Given the description of an element on the screen output the (x, y) to click on. 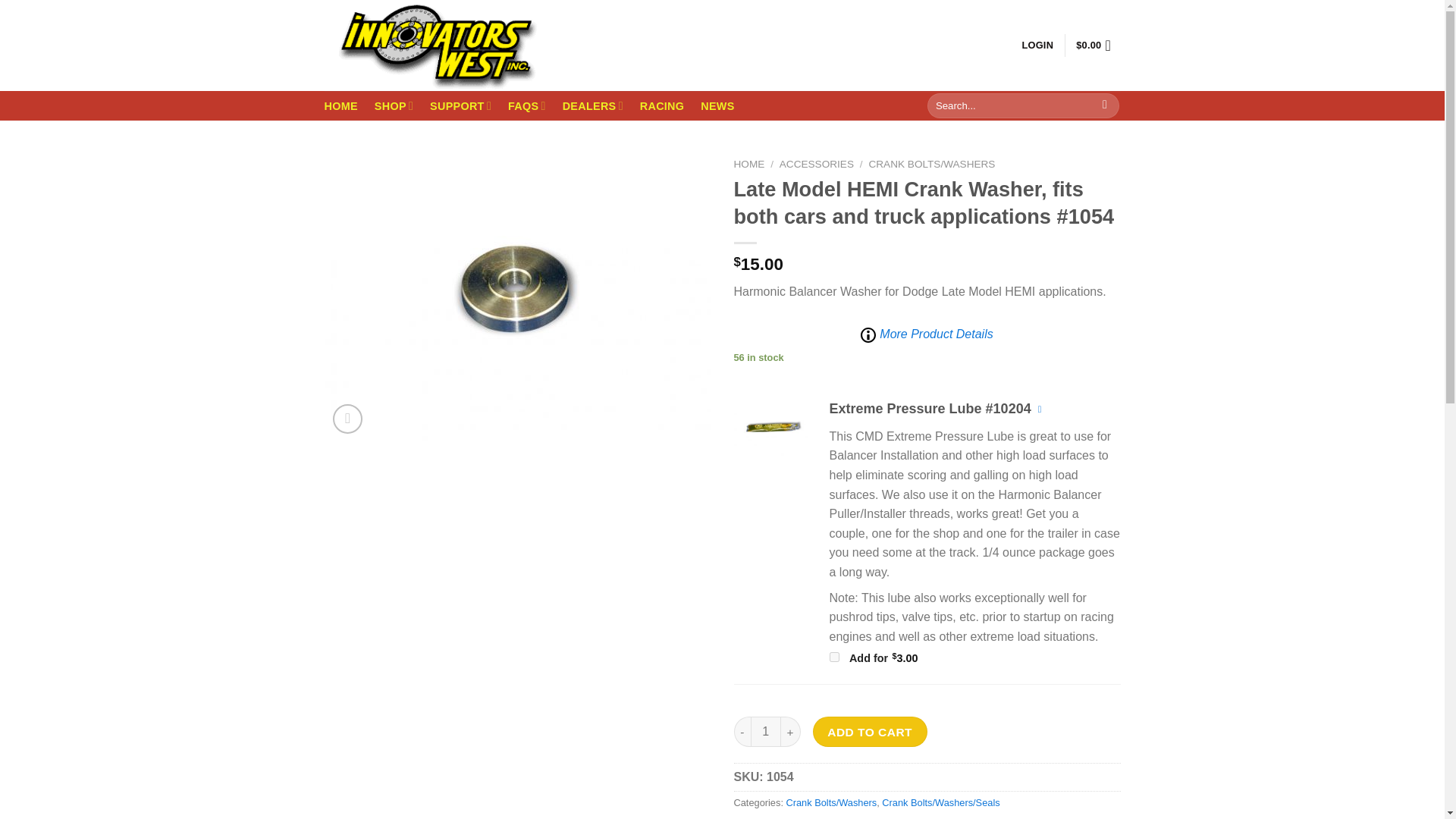
1 (765, 731)
LOGIN (1037, 44)
SUPPORT (460, 105)
Zoom (347, 419)
FAQS (527, 105)
Cart (1097, 45)
DEALERS (592, 105)
Innovators West - Racing Products (437, 45)
RACING (662, 105)
10204 (771, 427)
Login (1037, 44)
Read More Product Details (926, 333)
SHOP (393, 105)
HOME (341, 105)
Search (1105, 105)
